Given the description of an element on the screen output the (x, y) to click on. 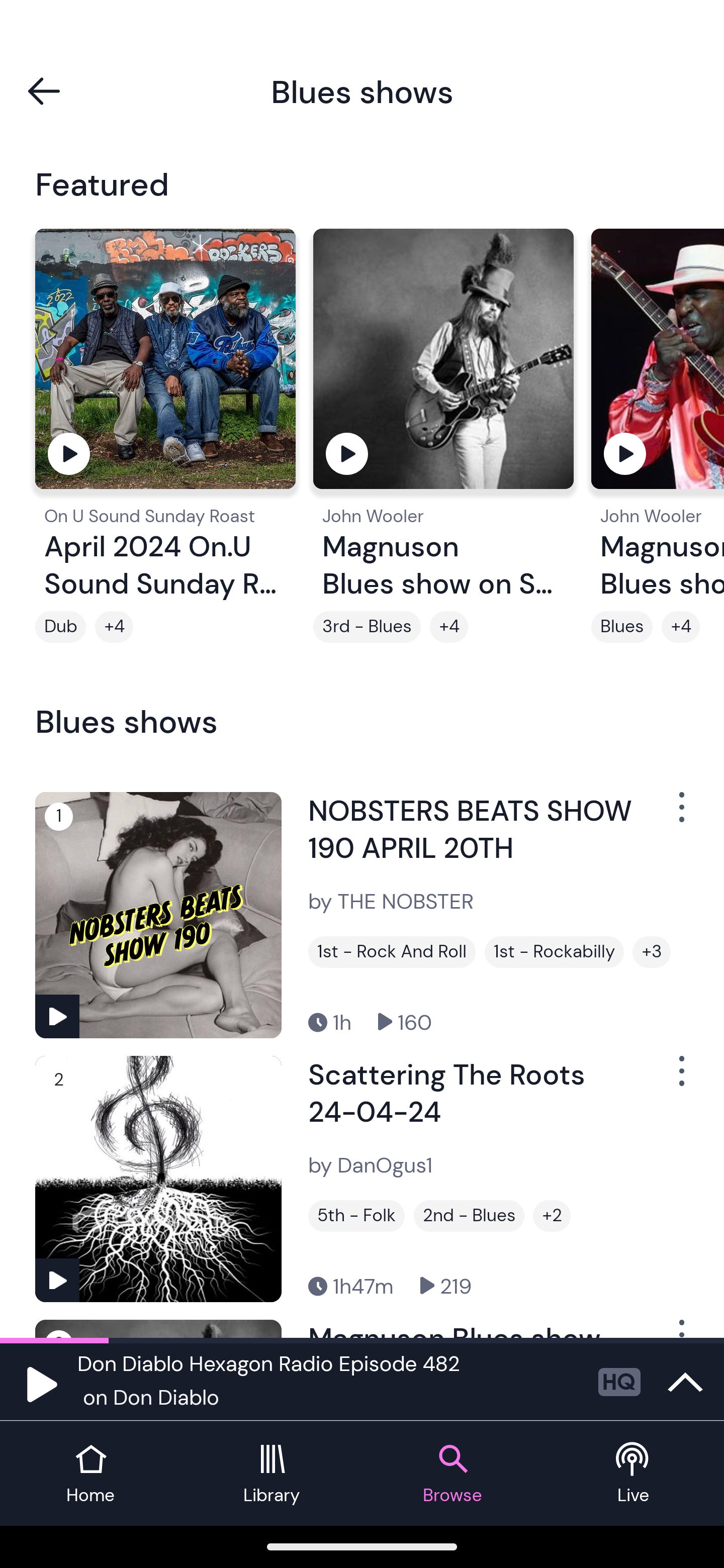
Dub (60, 626)
3rd - Blues (366, 626)
Blues (621, 626)
Show Options Menu Button (679, 814)
1st - Rock And Roll (391, 951)
1st - Rockabilly (554, 951)
Show Options Menu Button (679, 1078)
5th - Folk (356, 1215)
2nd - Blues (469, 1215)
Home tab Home (90, 1473)
Library tab Library (271, 1473)
Browse tab Browse (452, 1473)
Live tab Live (633, 1473)
